Given the description of an element on the screen output the (x, y) to click on. 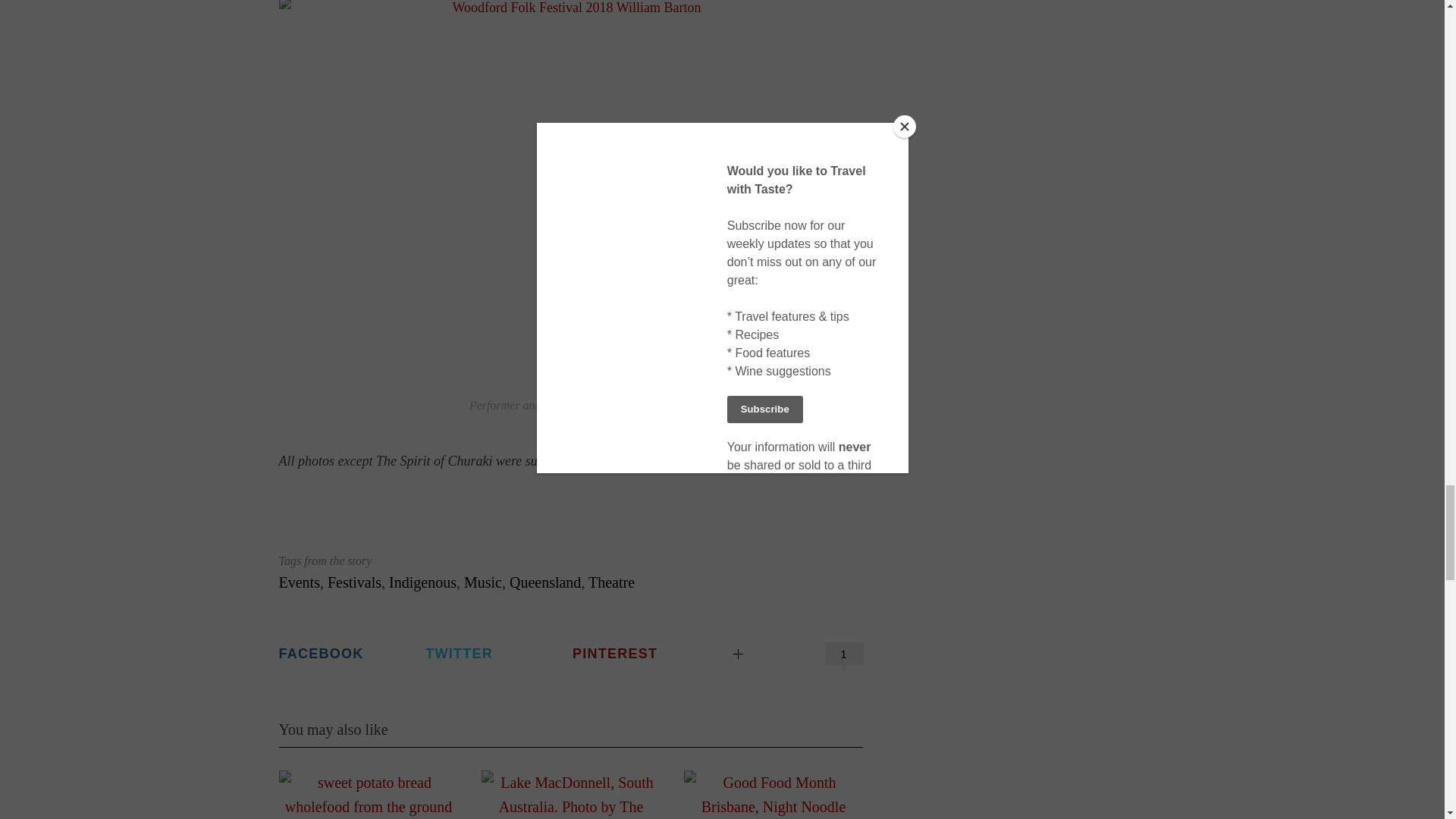
Indigenous (422, 582)
PINTEREST (644, 653)
Music (483, 582)
TWITTER (497, 653)
FACEBOOK (350, 653)
Theatre (611, 582)
1 (844, 653)
Queensland (544, 582)
Festivals (354, 582)
Events (299, 582)
LINKEDIN (783, 638)
